Given the description of an element on the screen output the (x, y) to click on. 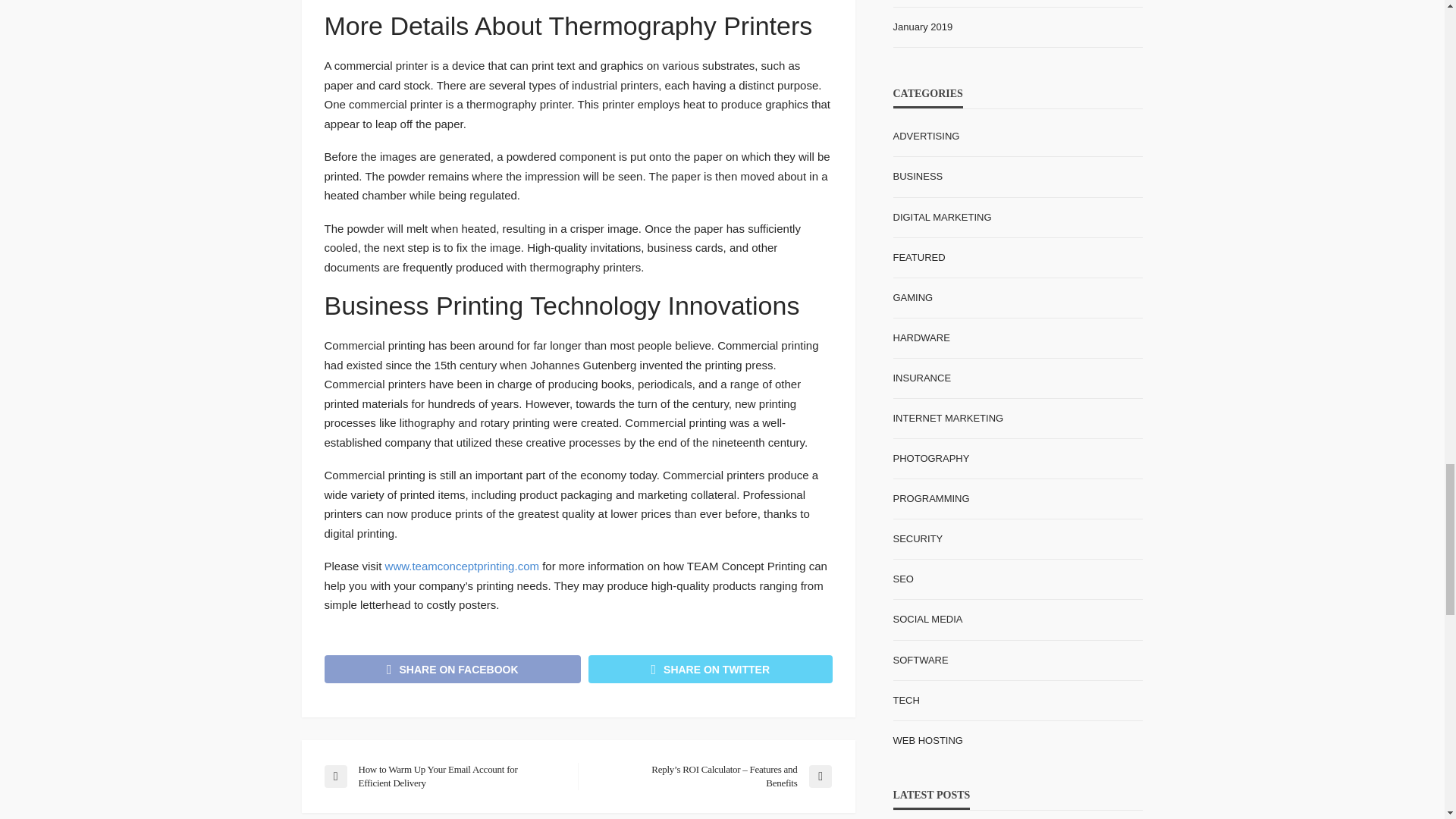
How to Warm Up Your Email Account for Efficient Delivery (443, 776)
